Given the description of an element on the screen output the (x, y) to click on. 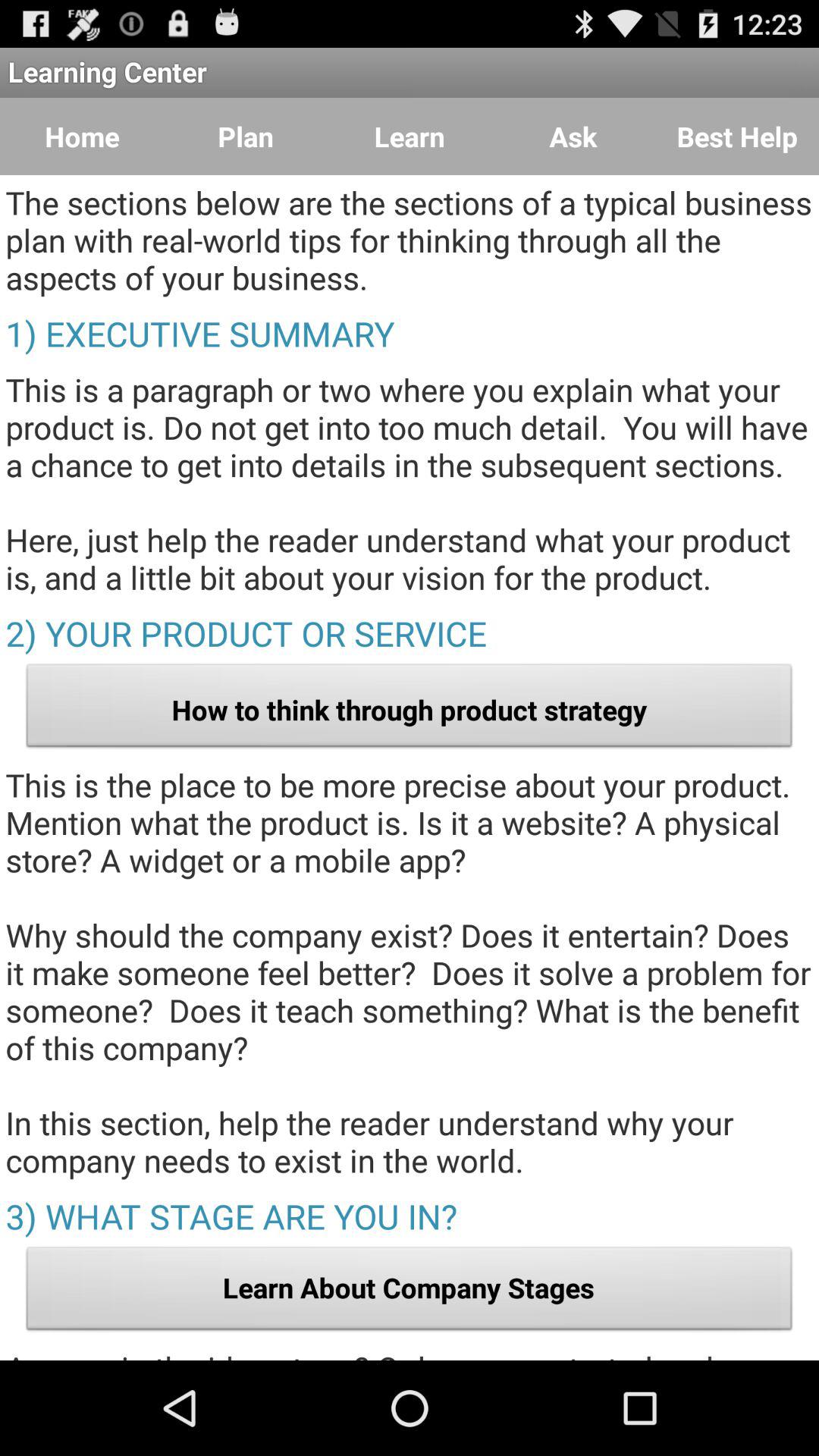
open the how to think icon (409, 709)
